Given the description of an element on the screen output the (x, y) to click on. 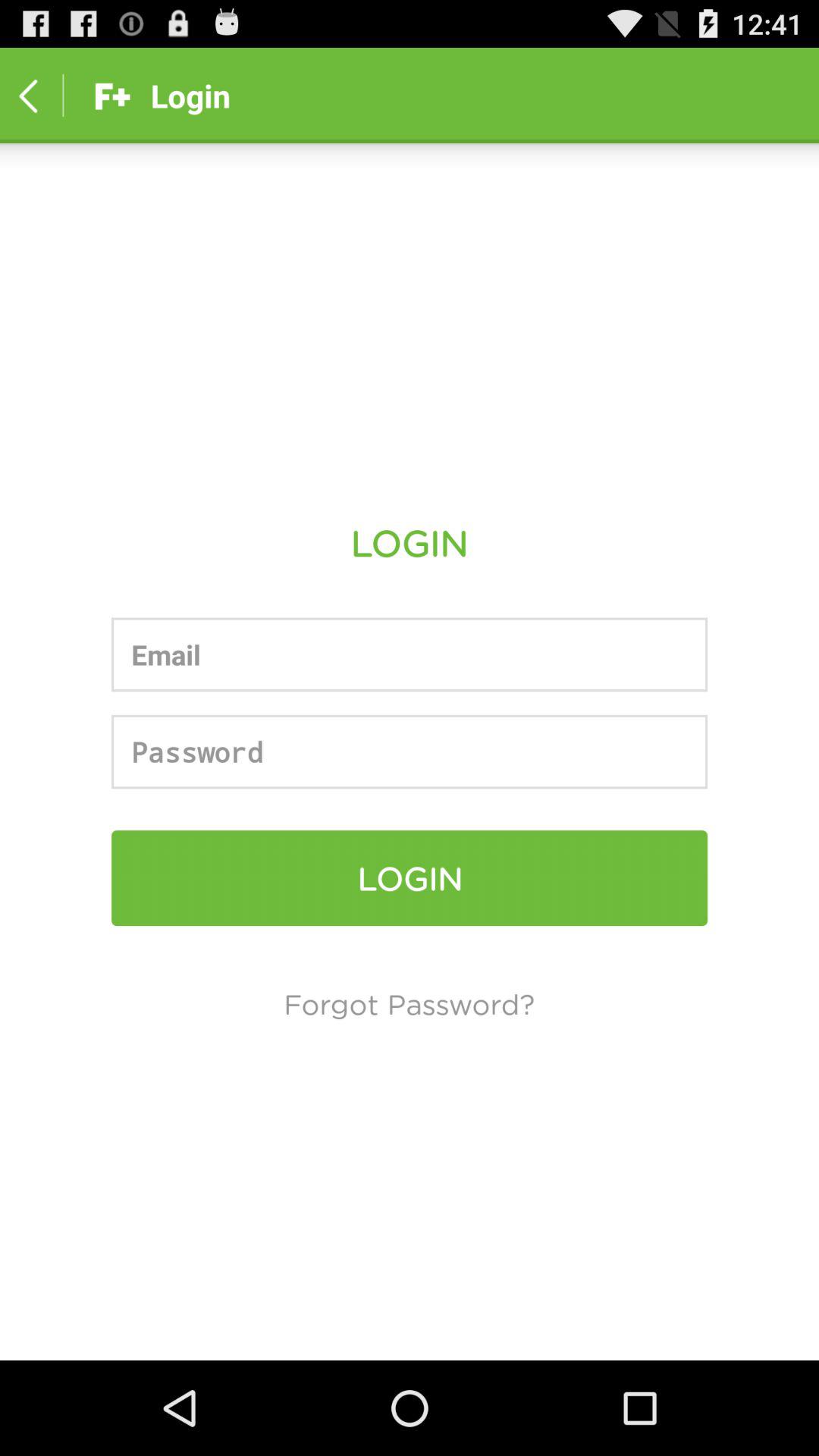
turn off the forgot password? (408, 1003)
